Given the description of an element on the screen output the (x, y) to click on. 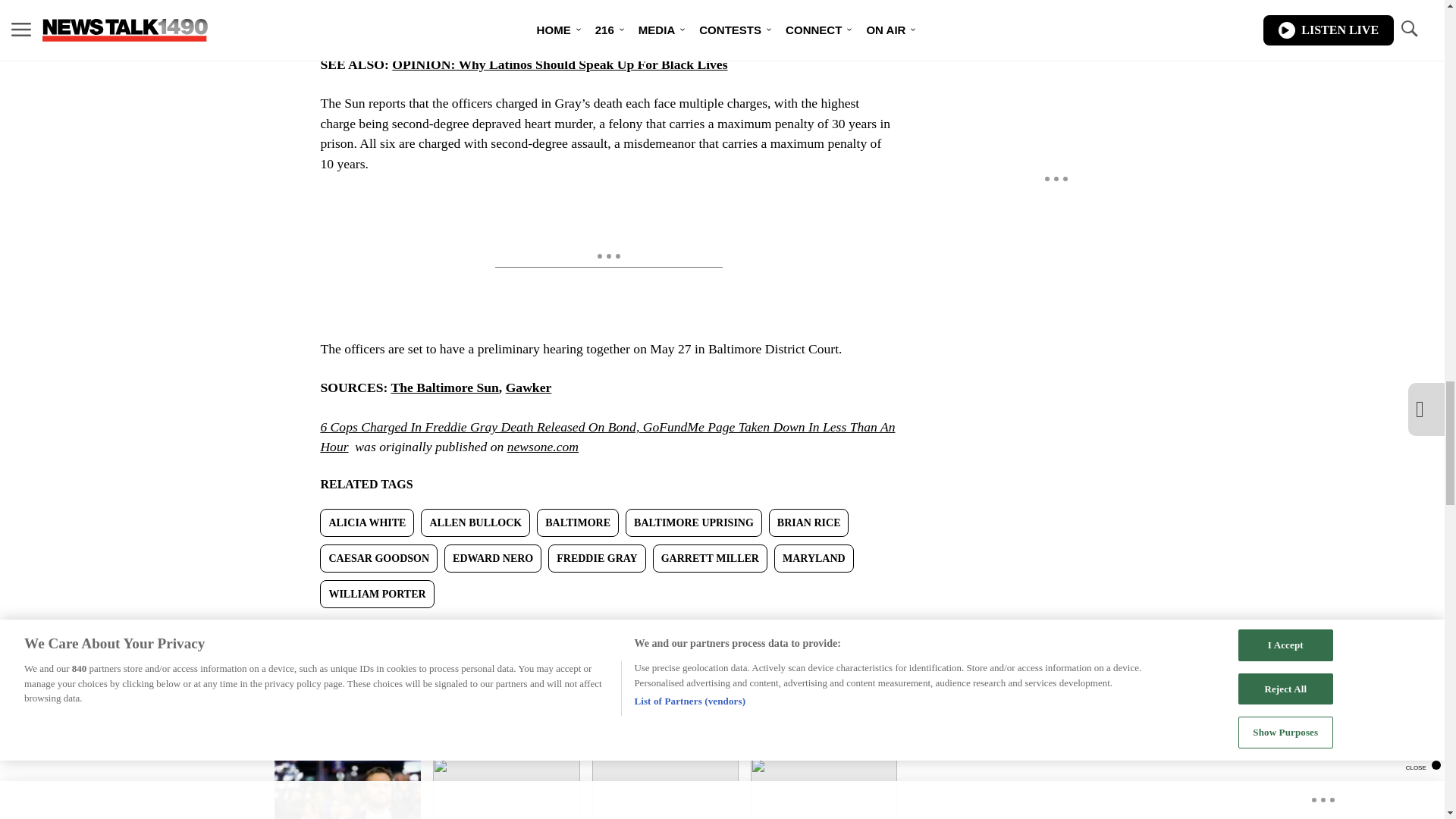
Vuukle Sharebar Widget (585, 632)
